Given the description of an element on the screen output the (x, y) to click on. 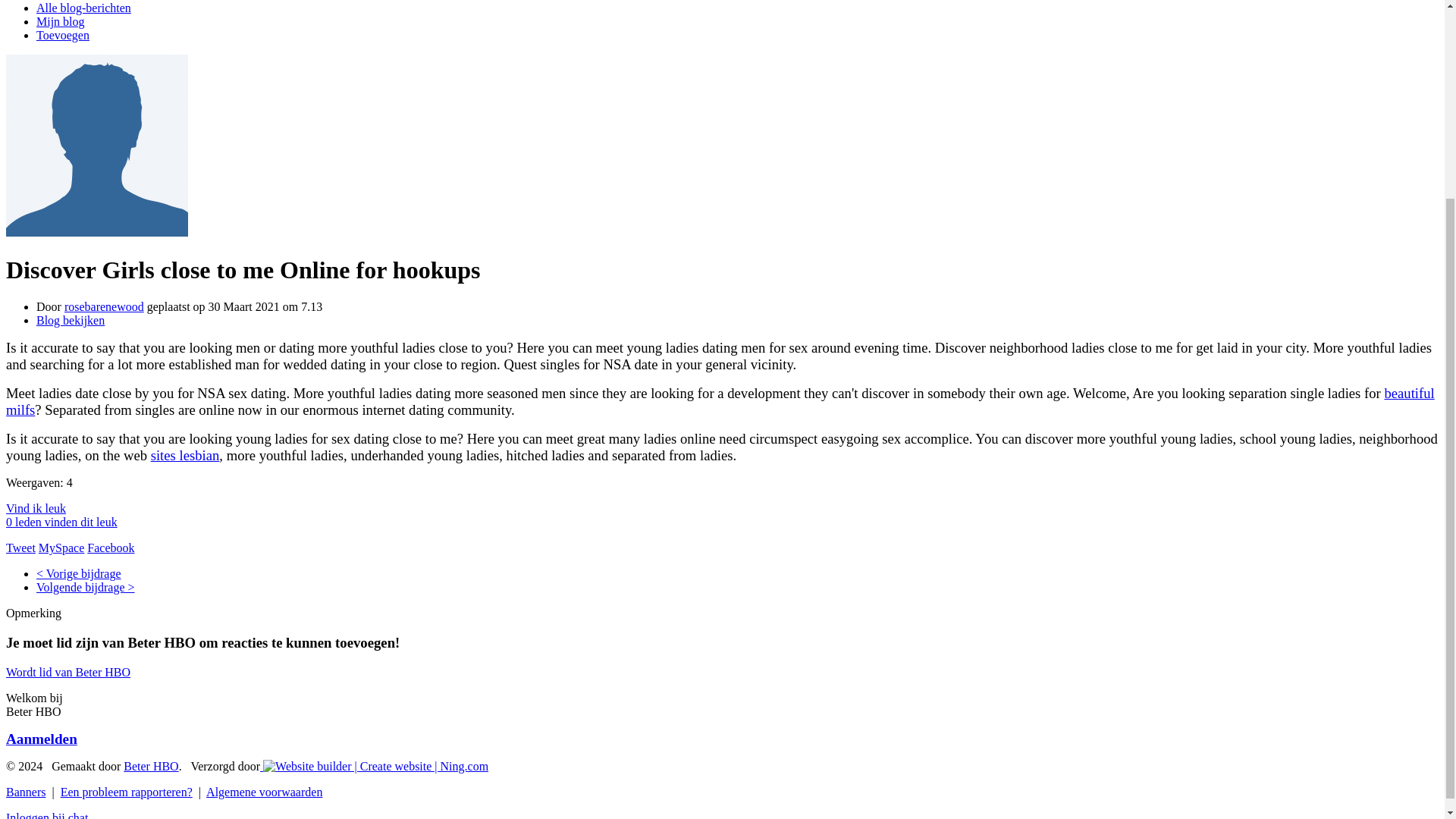
Toevoegen (62, 34)
rosebarenewood (104, 306)
Banners (25, 791)
Single Women for adult Dating (85, 586)
Tweet (19, 547)
Ning Website Builder (375, 766)
Discover lesbian Looking For sex (78, 573)
Mijn blog (60, 21)
Wordt lid van Beter HBO (68, 671)
Door (50, 306)
Aanmelden (41, 738)
Blog bekijken (70, 319)
MySpace (61, 547)
Facebook (110, 547)
sites lesbian (185, 455)
